Given the description of an element on the screen output the (x, y) to click on. 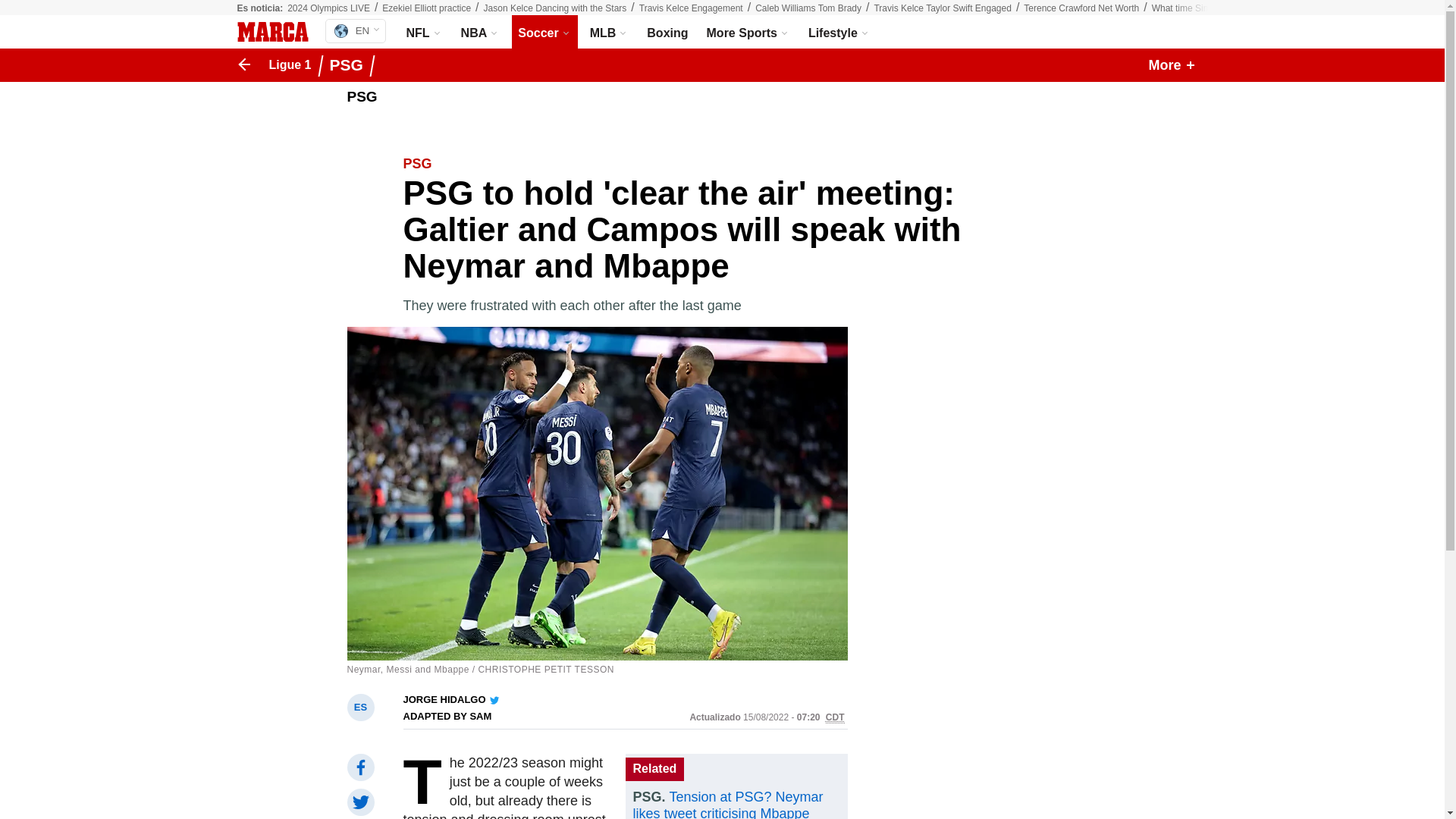
NFL (424, 31)
NBA (480, 31)
More Sports (748, 31)
MLB (608, 31)
Boxing (667, 31)
PSG (349, 64)
Caleb Williams Tom Brady (808, 8)
NFL (424, 31)
Ezekiel Elliott practice (354, 30)
Travis Kelce Taylor Swift Engaged (425, 8)
Lifestyle (941, 8)
Terence Crawford Net Worth (839, 31)
Jason Kelce Dancing with the Stars (1080, 8)
Central Daylight Time (555, 8)
